Given the description of an element on the screen output the (x, y) to click on. 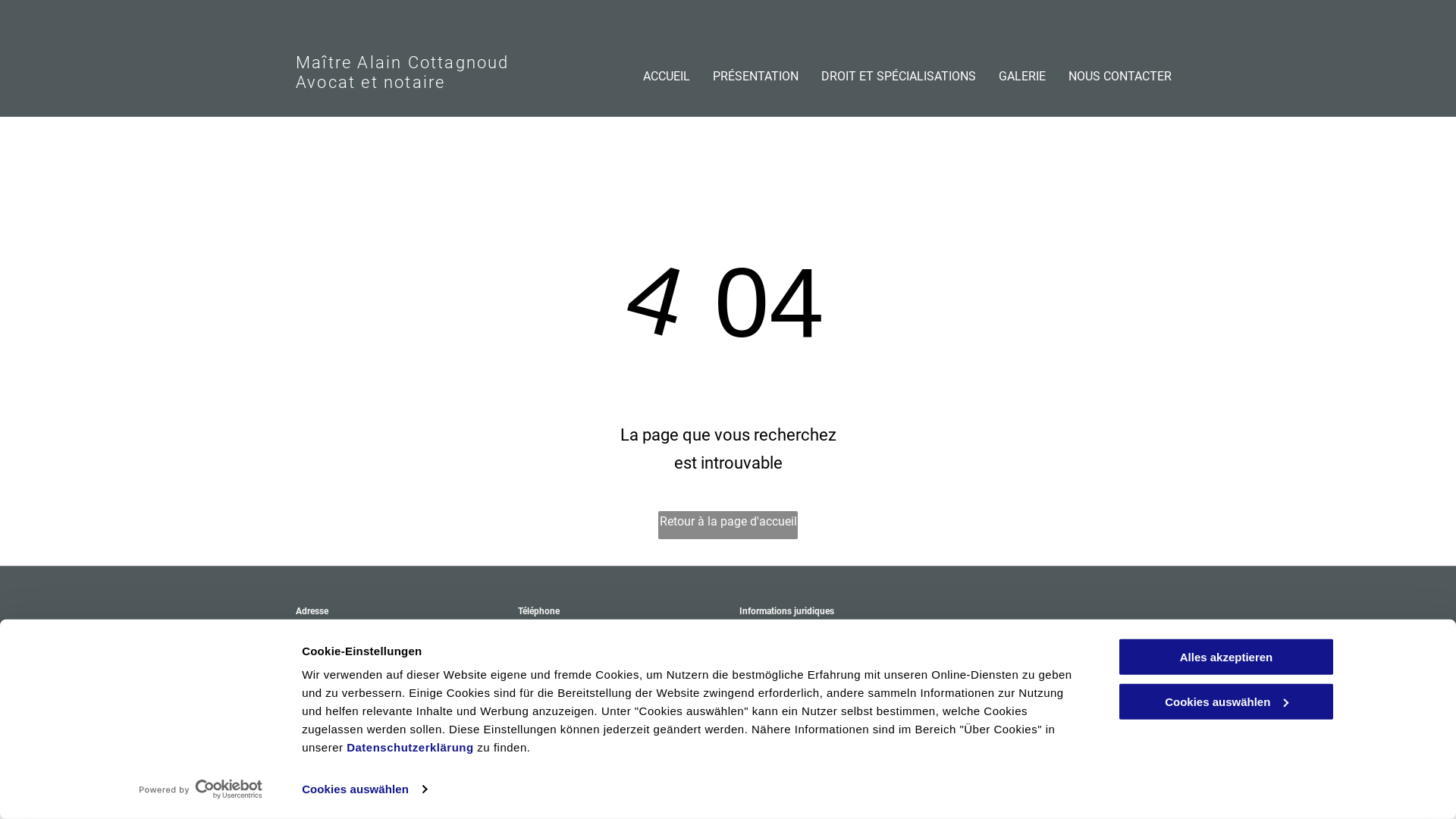
NOUS CONTACTER Element type: text (1119, 72)
ACCUEIL Element type: text (666, 72)
Alles akzeptieren Element type: text (1225, 656)
GALERIE Element type: text (1021, 72)
alain.cottagnoud@bluewin.ch Element type: text (577, 654)
+41 27 322 82 82 Element type: text (553, 626)
